Given the description of an element on the screen output the (x, y) to click on. 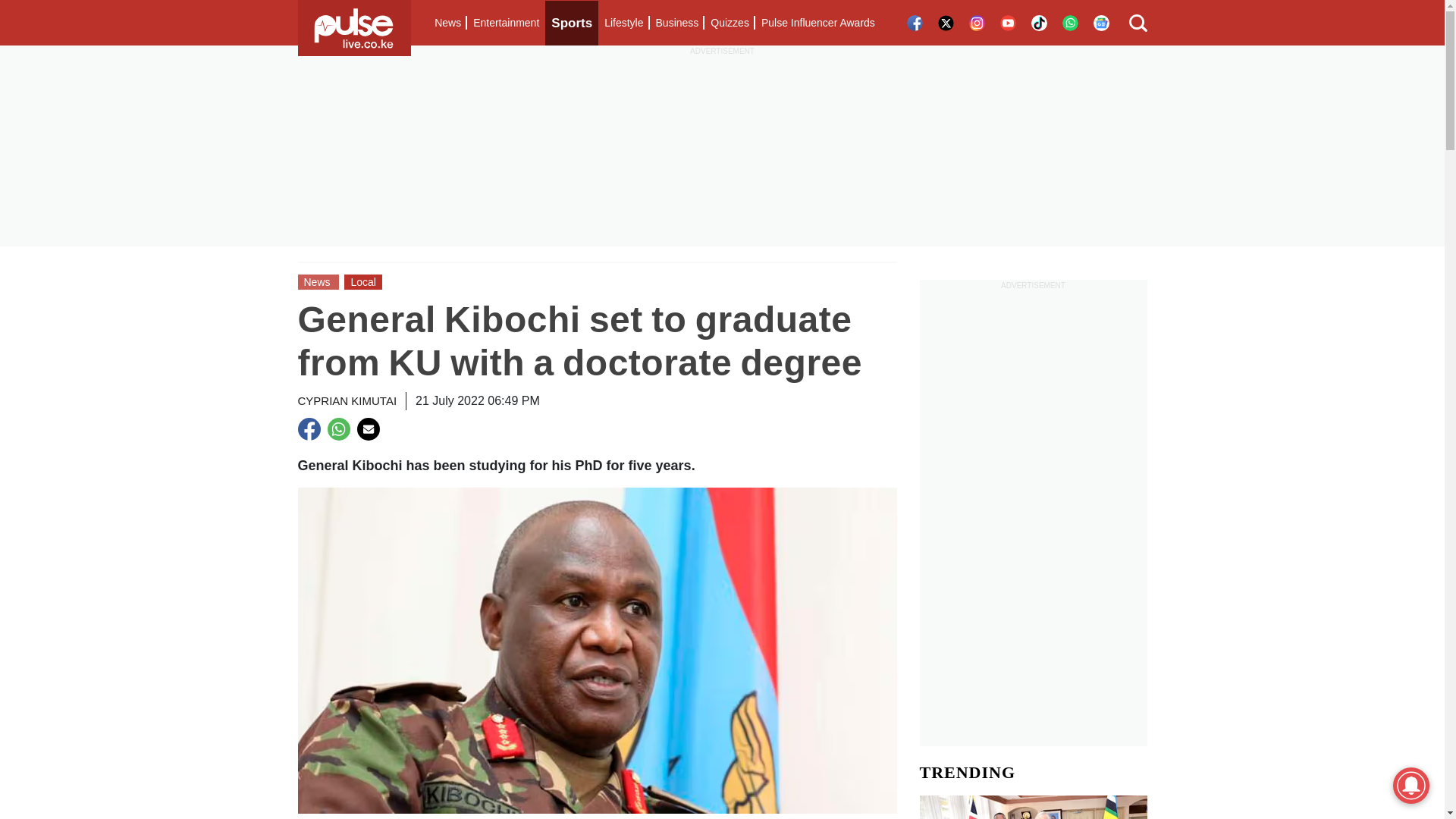
Quizzes (729, 22)
Business (676, 22)
Lifestyle (623, 22)
Sports (571, 22)
Entertainment (505, 22)
Pulse Influencer Awards (817, 22)
